Given the description of an element on the screen output the (x, y) to click on. 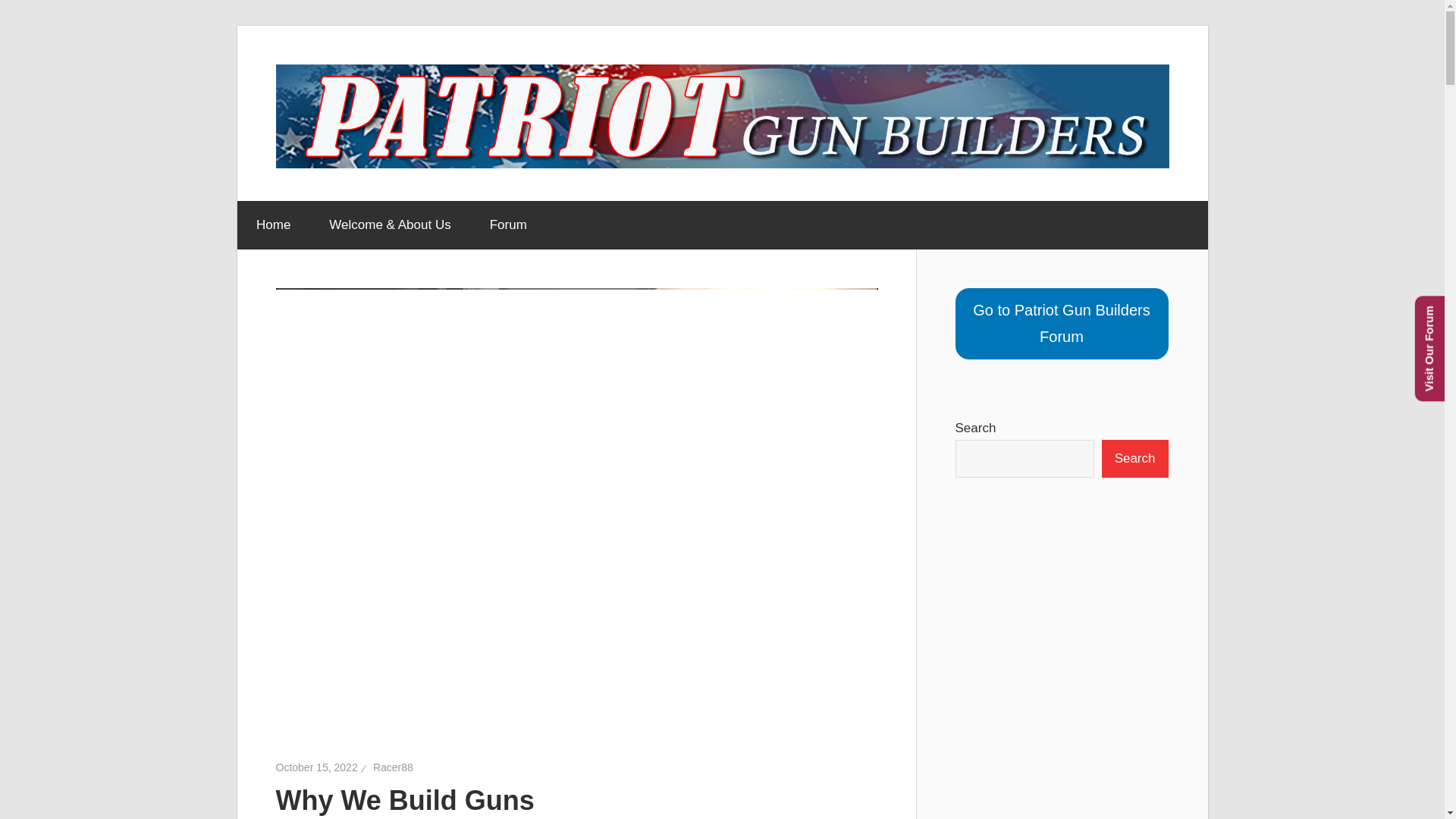
Home (271, 224)
Forum (508, 224)
View all posts by Racer88 (392, 767)
8:00 am (317, 767)
October 15, 2022 (317, 767)
Racer88 (392, 767)
